Given the description of an element on the screen output the (x, y) to click on. 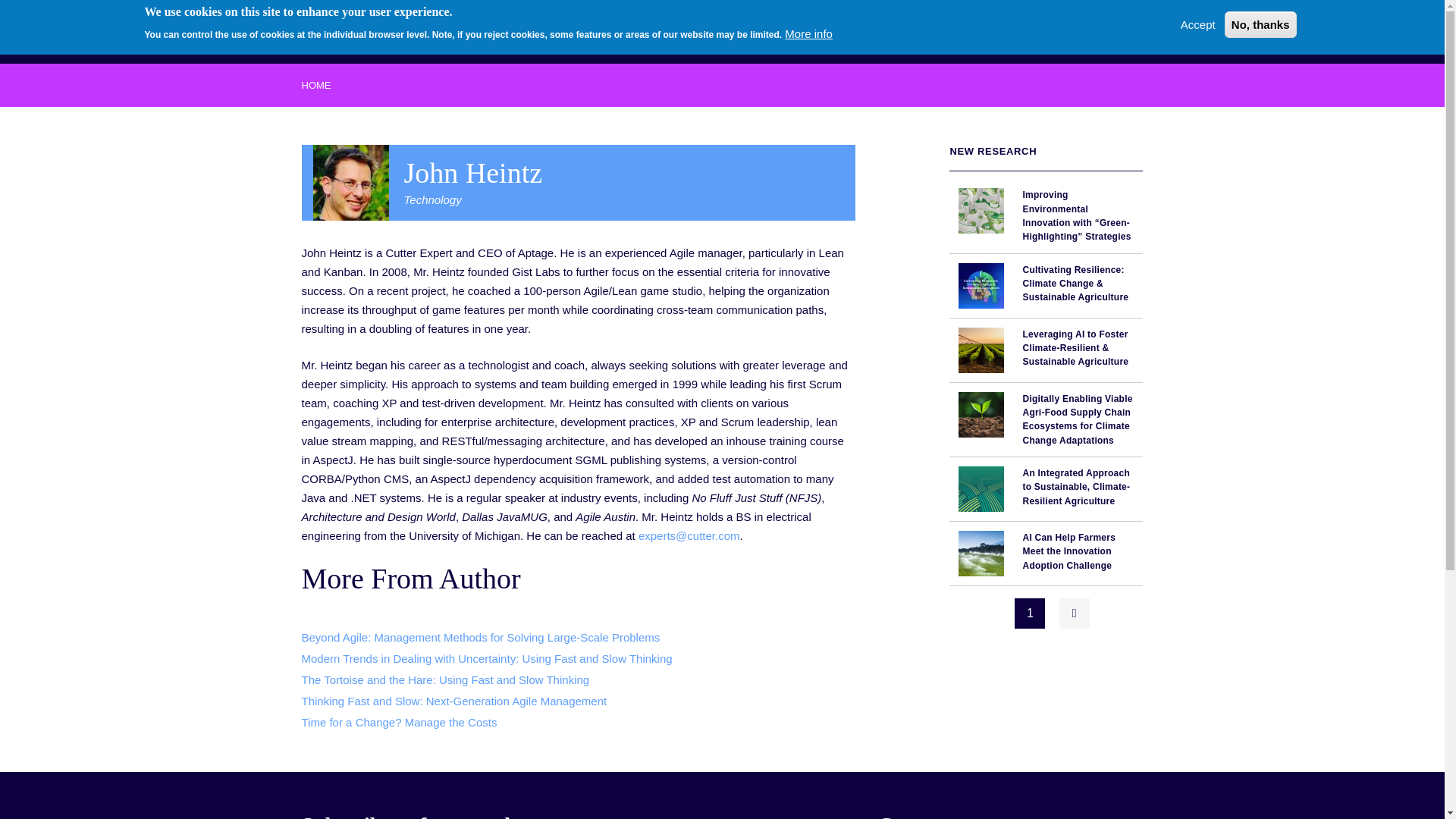
More info (808, 33)
Accept (1197, 24)
No, thanks (1260, 24)
Go to next page (1074, 613)
Home (356, 29)
